Given the description of an element on the screen output the (x, y) to click on. 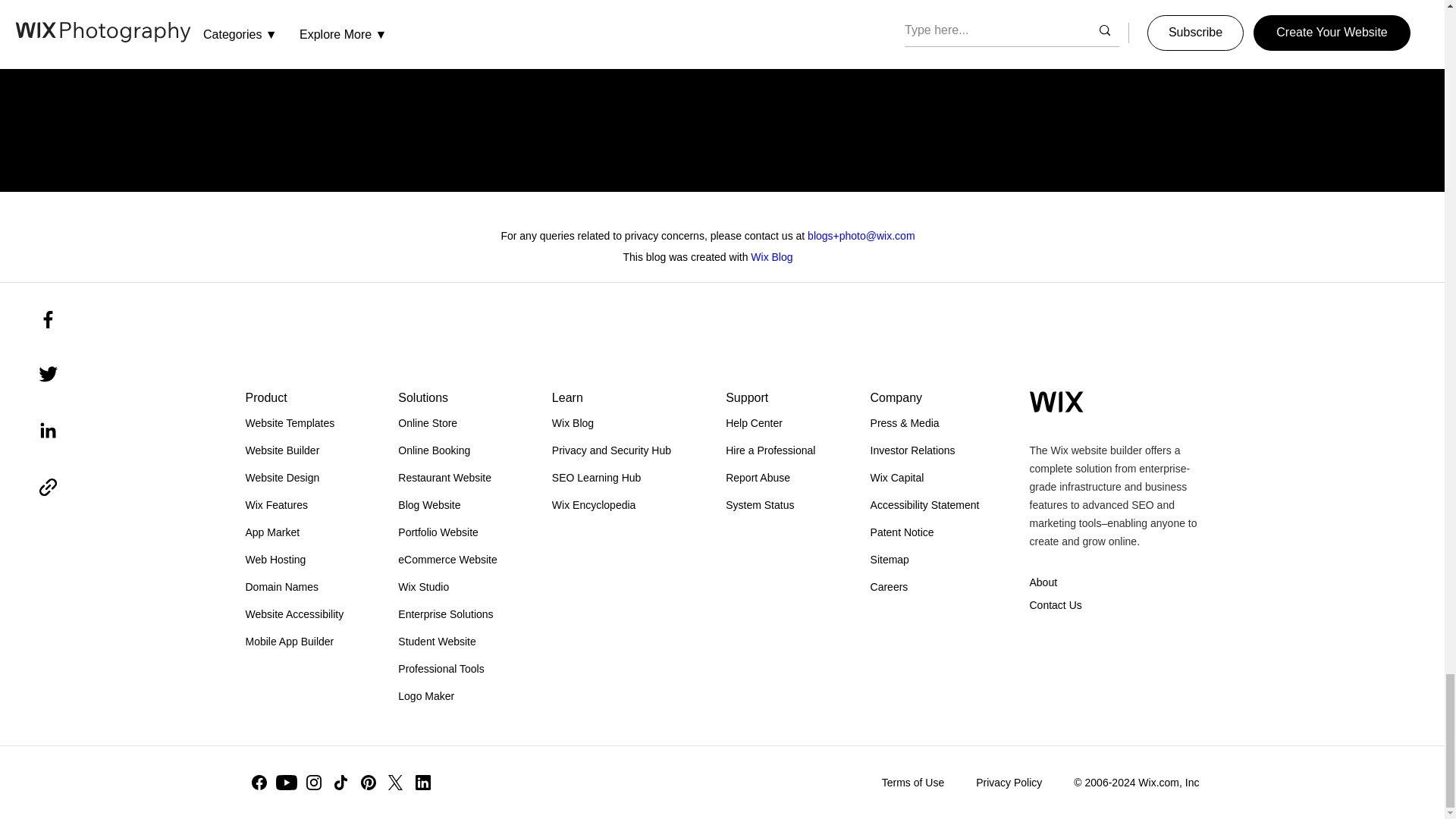
Wix Terms of Use (970, 22)
Instagram (313, 782)
TikTok (341, 782)
Wix.com (1056, 401)
Wix's Privacy Policy (1023, 46)
Twitter (395, 782)
Facebook (259, 782)
Linkedin (422, 782)
Youtube (286, 782)
Pinterest (368, 782)
